Given the description of an element on the screen output the (x, y) to click on. 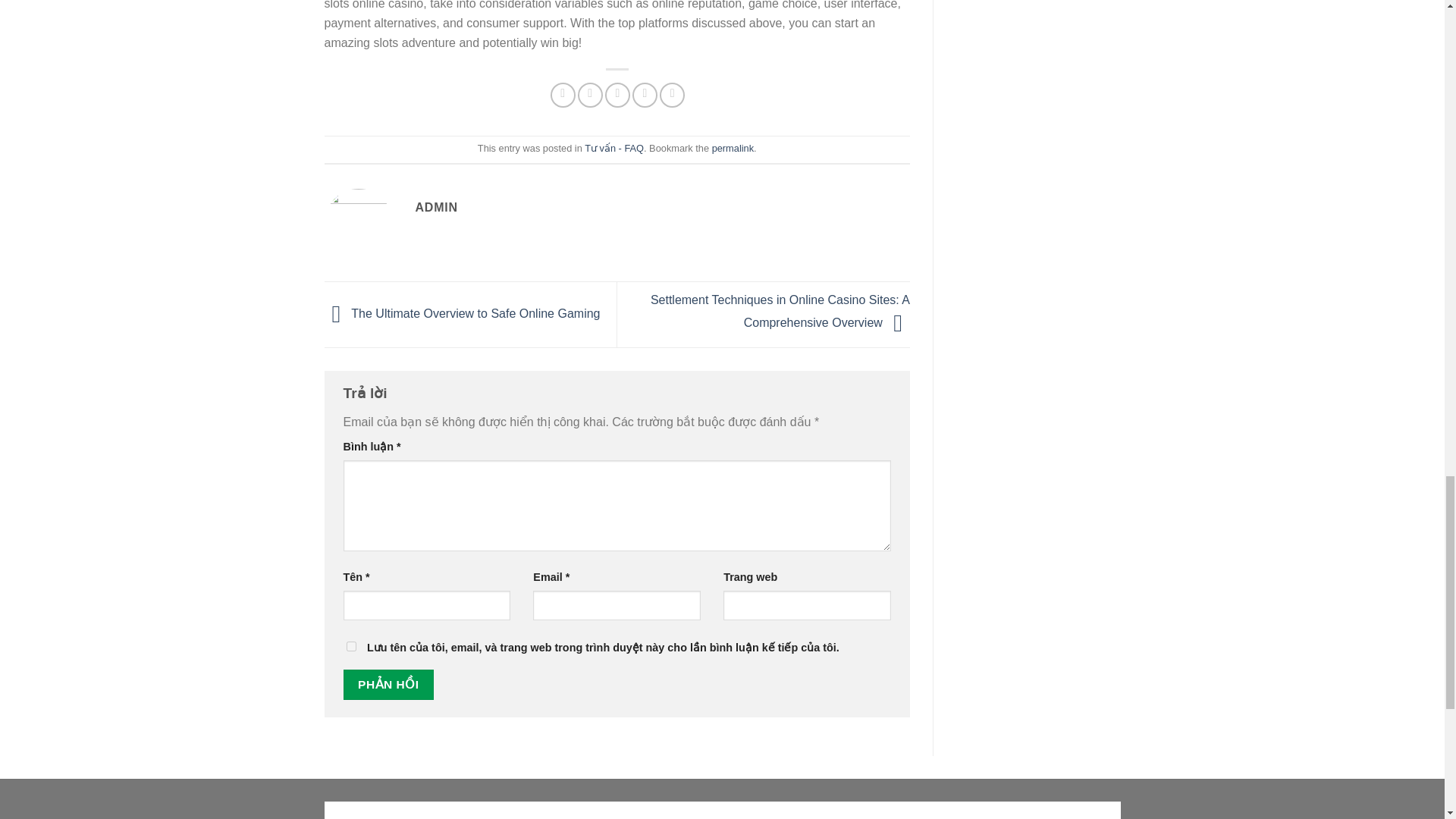
Email to a Friend (617, 94)
yes (350, 646)
Pin on Pinterest (644, 94)
Share on LinkedIn (671, 94)
Share on Facebook (562, 94)
permalink (732, 147)
Share on Twitter (590, 94)
